Given the description of an element on the screen output the (x, y) to click on. 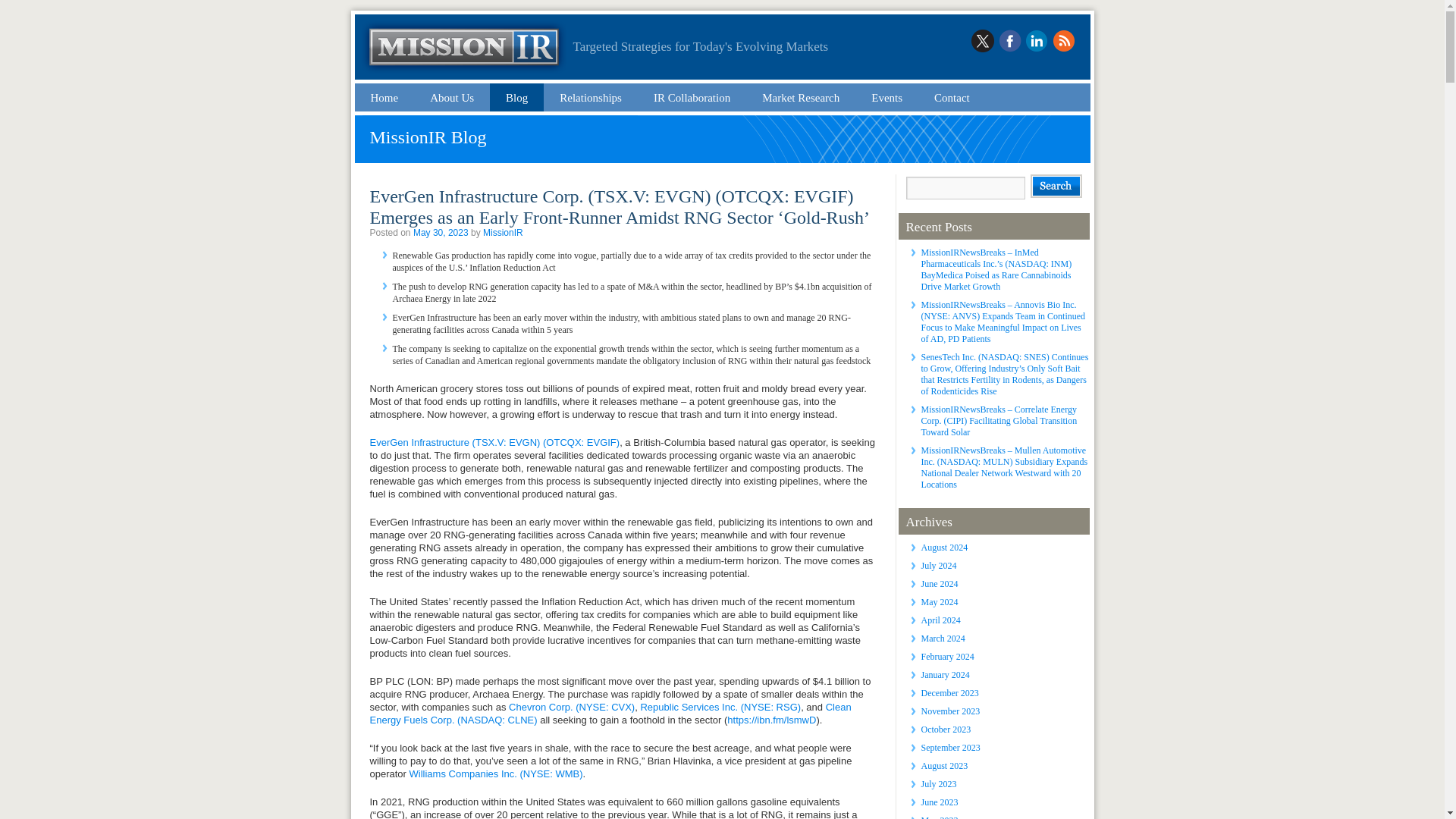
Home (384, 97)
Events (887, 97)
May 30, 2023 (440, 232)
About Us (451, 97)
Contact (952, 97)
8:45 am (440, 232)
Blog (516, 97)
IR Collaboration (691, 97)
MissionIR (502, 232)
July 2024 (938, 565)
